Given the description of an element on the screen output the (x, y) to click on. 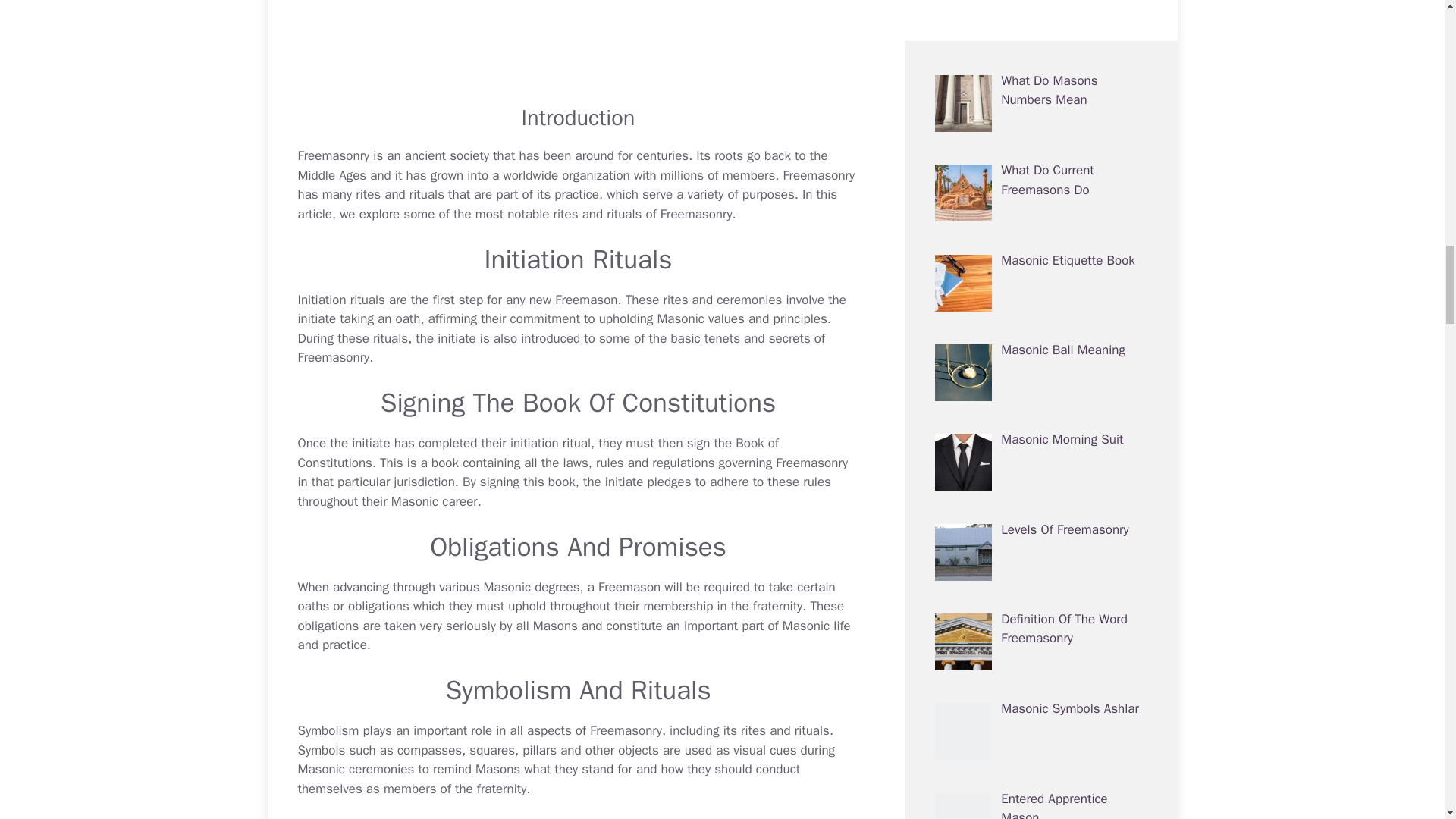
Freemasonry Rules And Regulations (721, 462)
YouTube video player (577, 42)
